Given the description of an element on the screen output the (x, y) to click on. 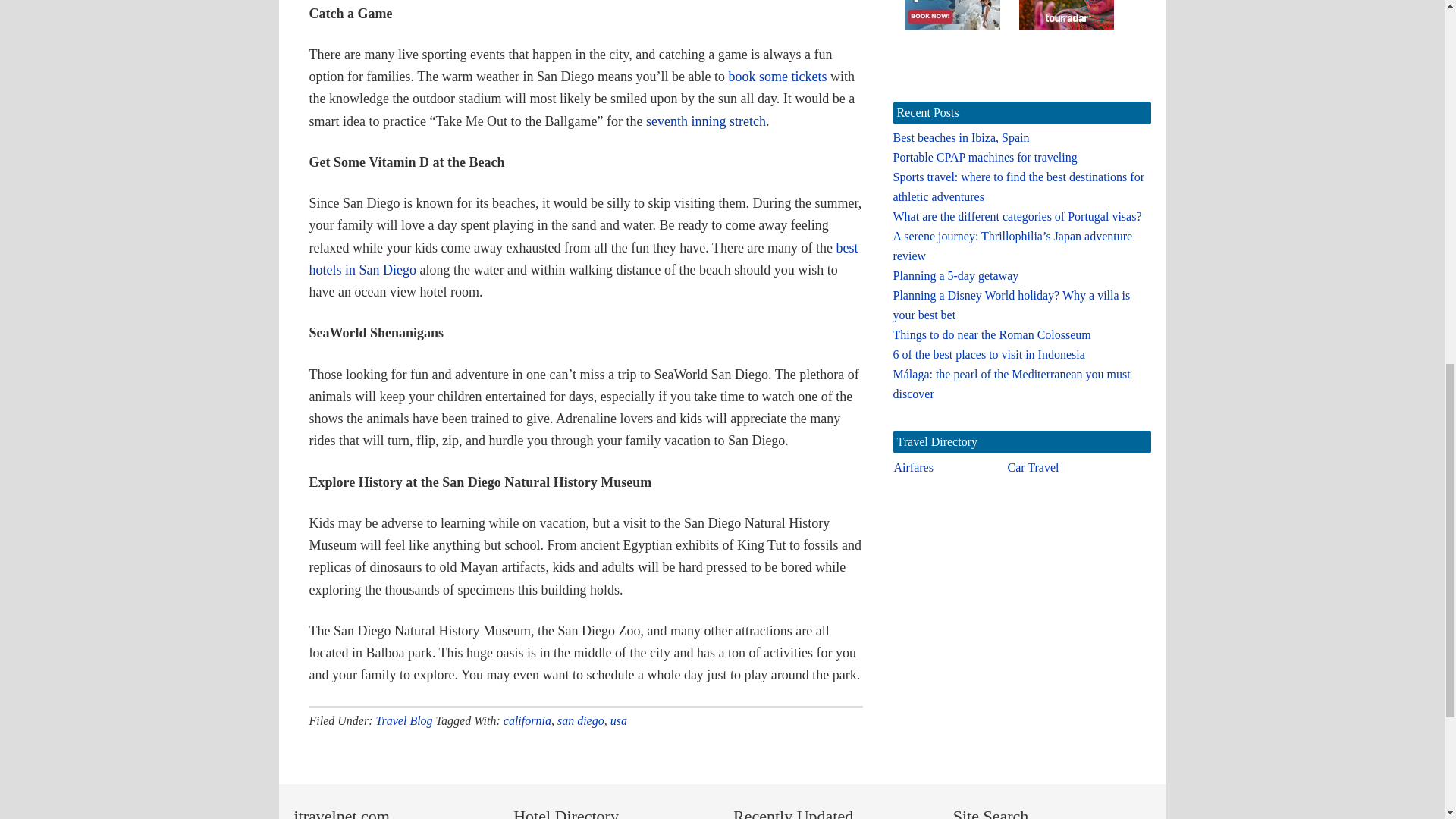
Travel Blog (403, 720)
Car Travel (1032, 467)
san diego (580, 720)
book some tickets (778, 76)
Things to do near the Roman Colosseum (991, 334)
california (527, 720)
seventh inning stretch (705, 120)
6 of the best places to visit in Indonesia (988, 354)
Planning a 5-day getaway (956, 275)
Portable CPAP machines for traveling (985, 156)
Best beaches in Ibiza, Spain (961, 137)
usa (618, 720)
What are the different categories of Portugal visas? (1017, 215)
